Given the description of an element on the screen output the (x, y) to click on. 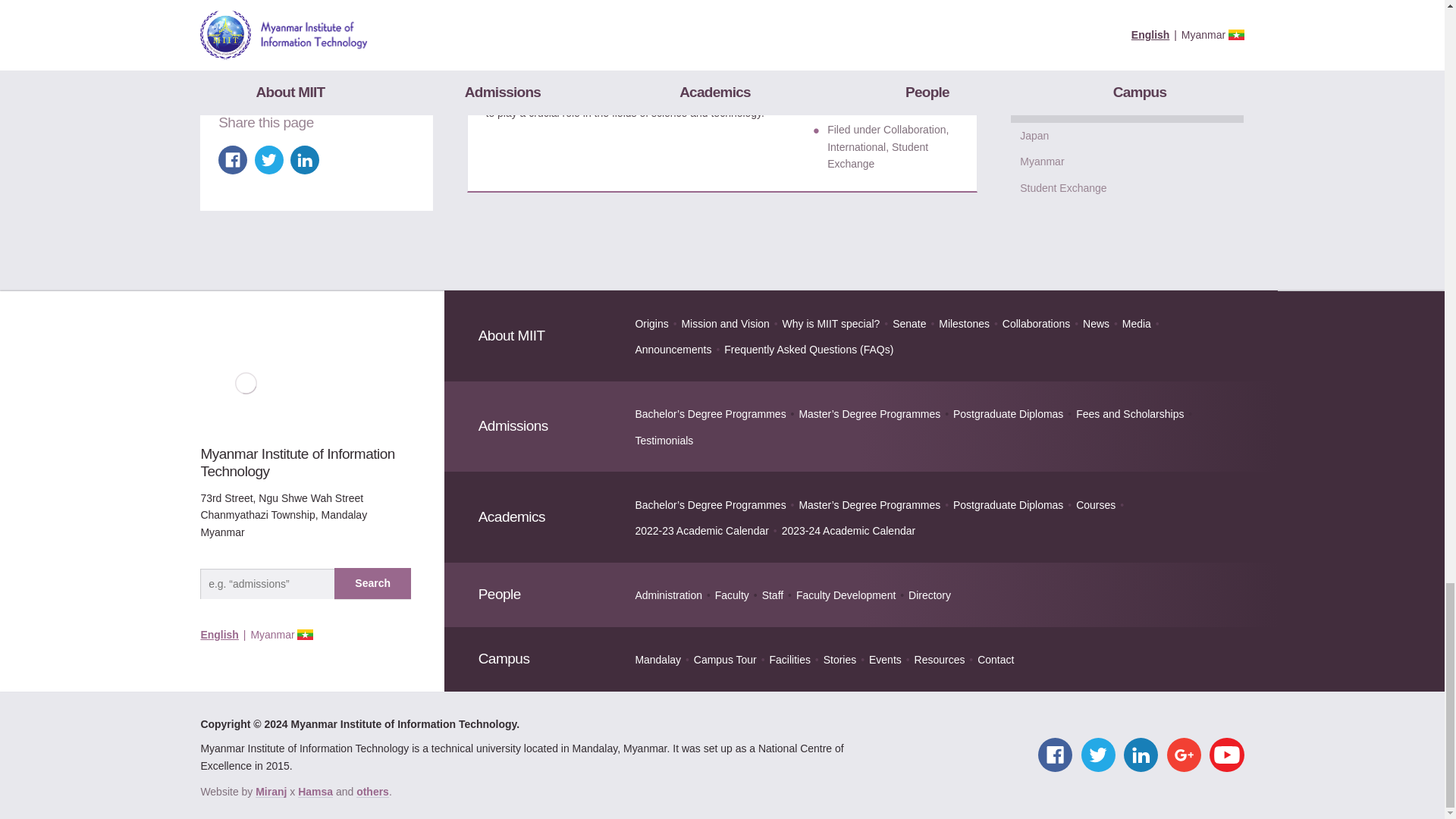
MIIT on Twitter (1098, 754)
MIIT on GooglePlus (1184, 754)
MIIT on YouTube (1226, 754)
MIIT on LinkedIn (1140, 754)
MIIT on Facebook (1054, 754)
